Given the description of an element on the screen output the (x, y) to click on. 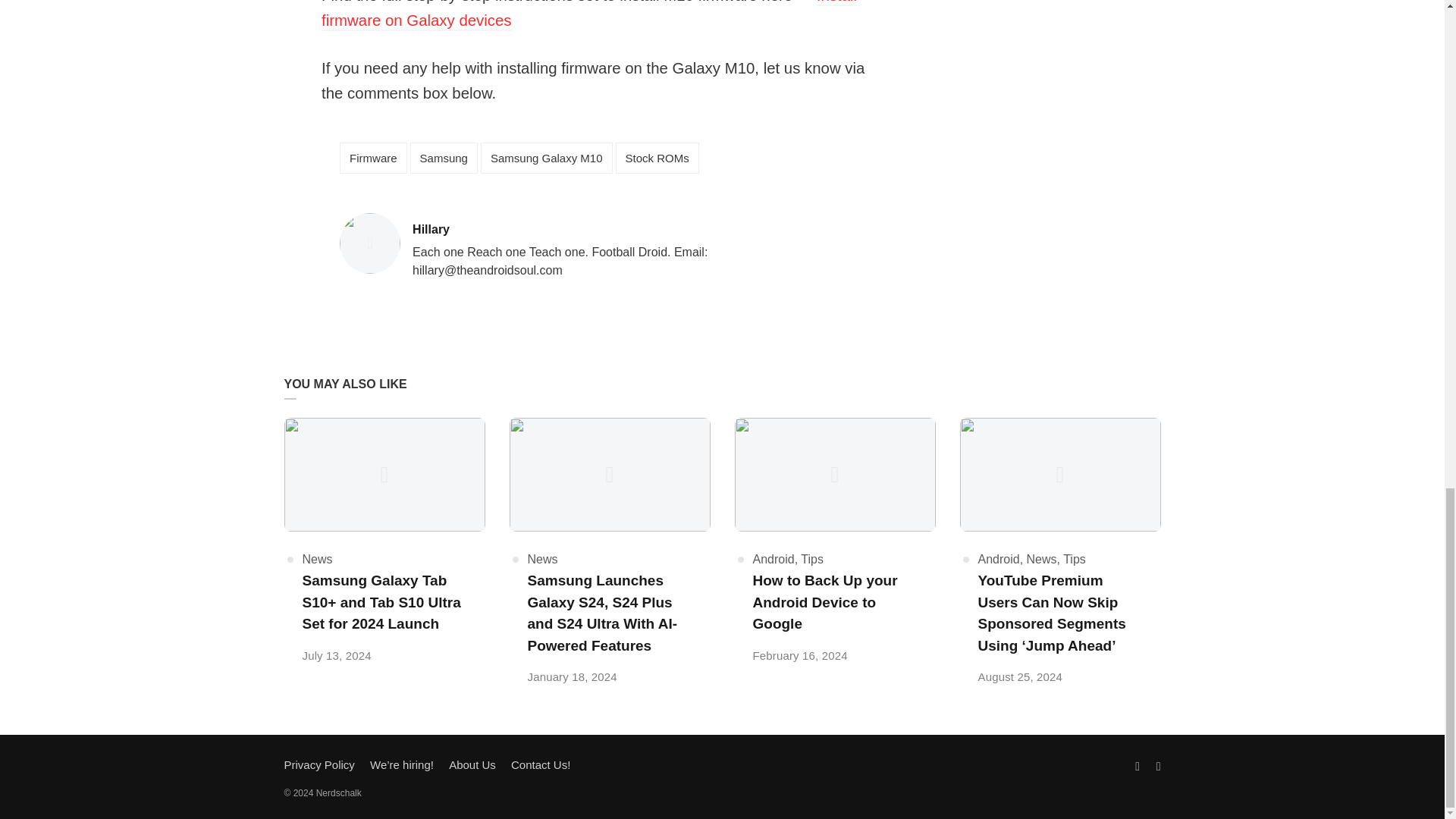
Samsung (564, 229)
News (443, 157)
Samsung Galaxy M10 (316, 558)
Tips (546, 157)
News (812, 558)
Android (542, 558)
Firmware (772, 558)
Install firmware on Galaxy devices (373, 157)
Stock ROMs (589, 15)
